Given the description of an element on the screen output the (x, y) to click on. 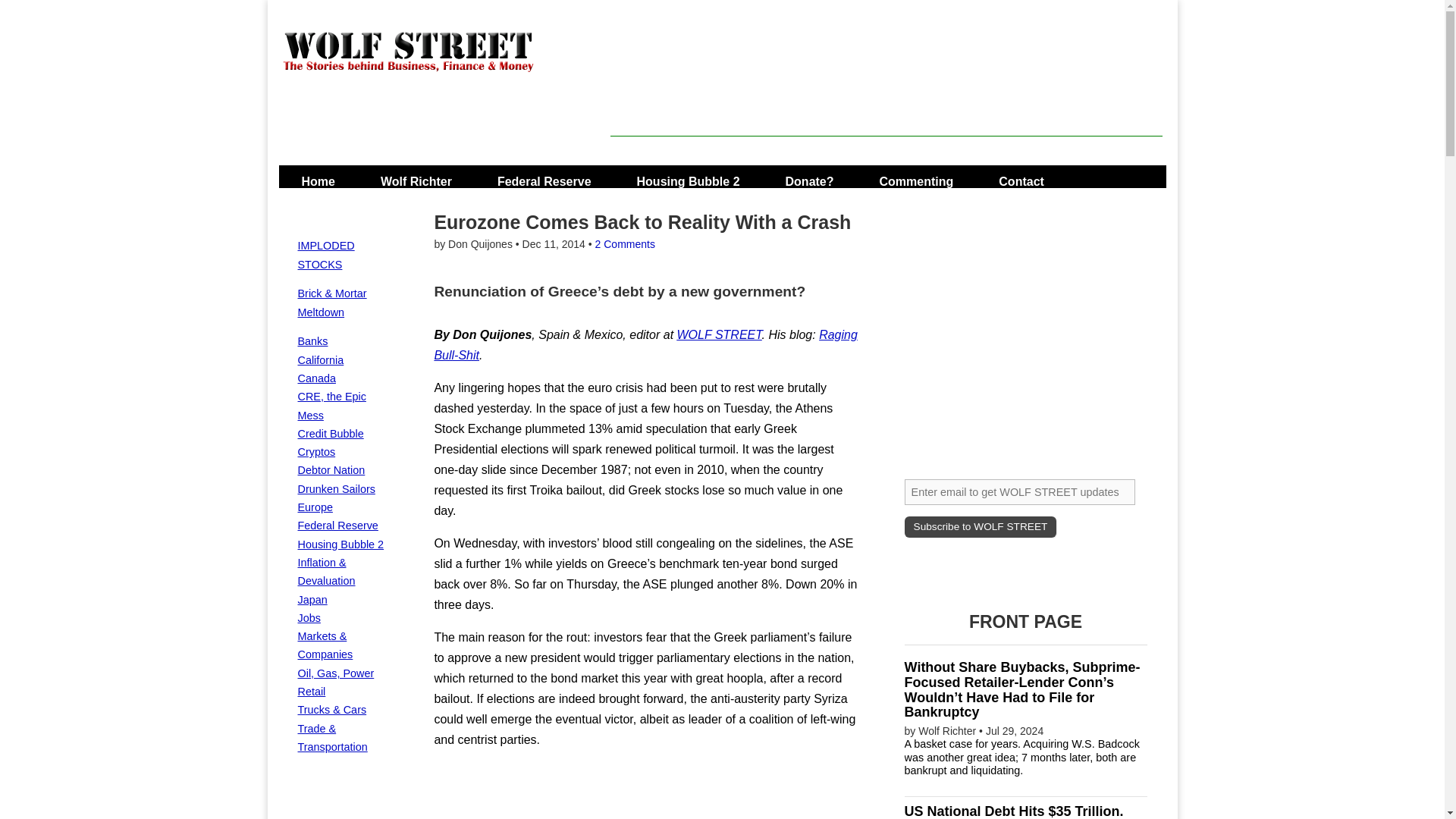
Japan (311, 599)
Wolf Street (408, 61)
Wolf Street (371, 162)
California (320, 359)
View all posts filed under Consumer (335, 489)
Commenting (916, 175)
Debtor Nation (331, 469)
Retail (310, 691)
Wolf Richter (416, 175)
Advertisement (885, 101)
View all posts filed under Federal Reserve (337, 525)
Donate? (809, 175)
View all posts filed under Debtor Nation (331, 469)
Oil, Gas, Power (335, 673)
Drunken Sailors (335, 489)
